Given the description of an element on the screen output the (x, y) to click on. 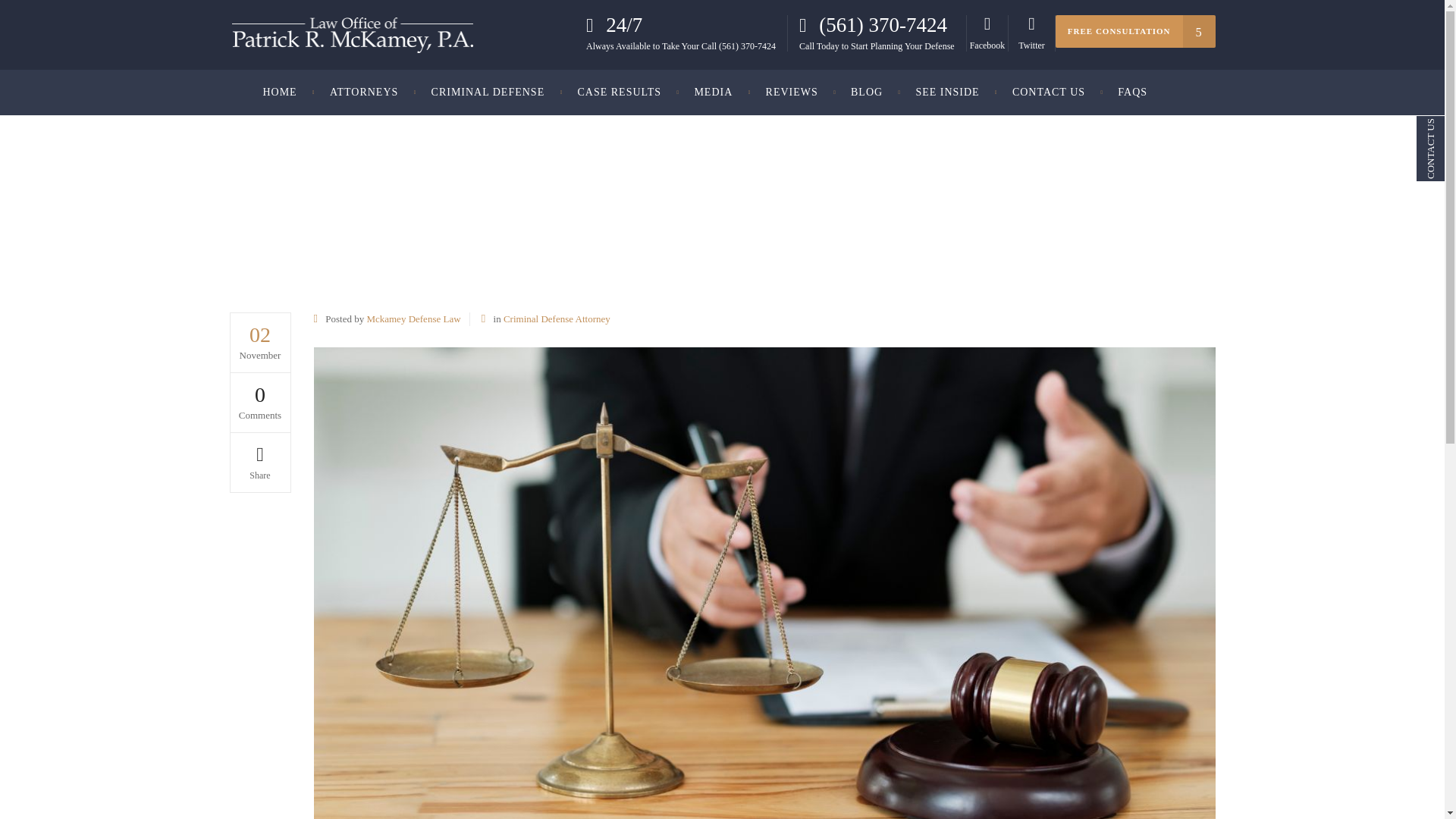
REVIEWS (791, 92)
SEE INSIDE (946, 92)
CRIMINAL DEFENSE (488, 92)
BLOG (866, 92)
ATTORNEYS (363, 92)
MEDIA (713, 92)
FAQS (1131, 92)
FREE CONSULTATION (1135, 31)
HOME (286, 92)
CONTACT US (1048, 92)
CASE RESULTS (619, 92)
